Given the description of an element on the screen output the (x, y) to click on. 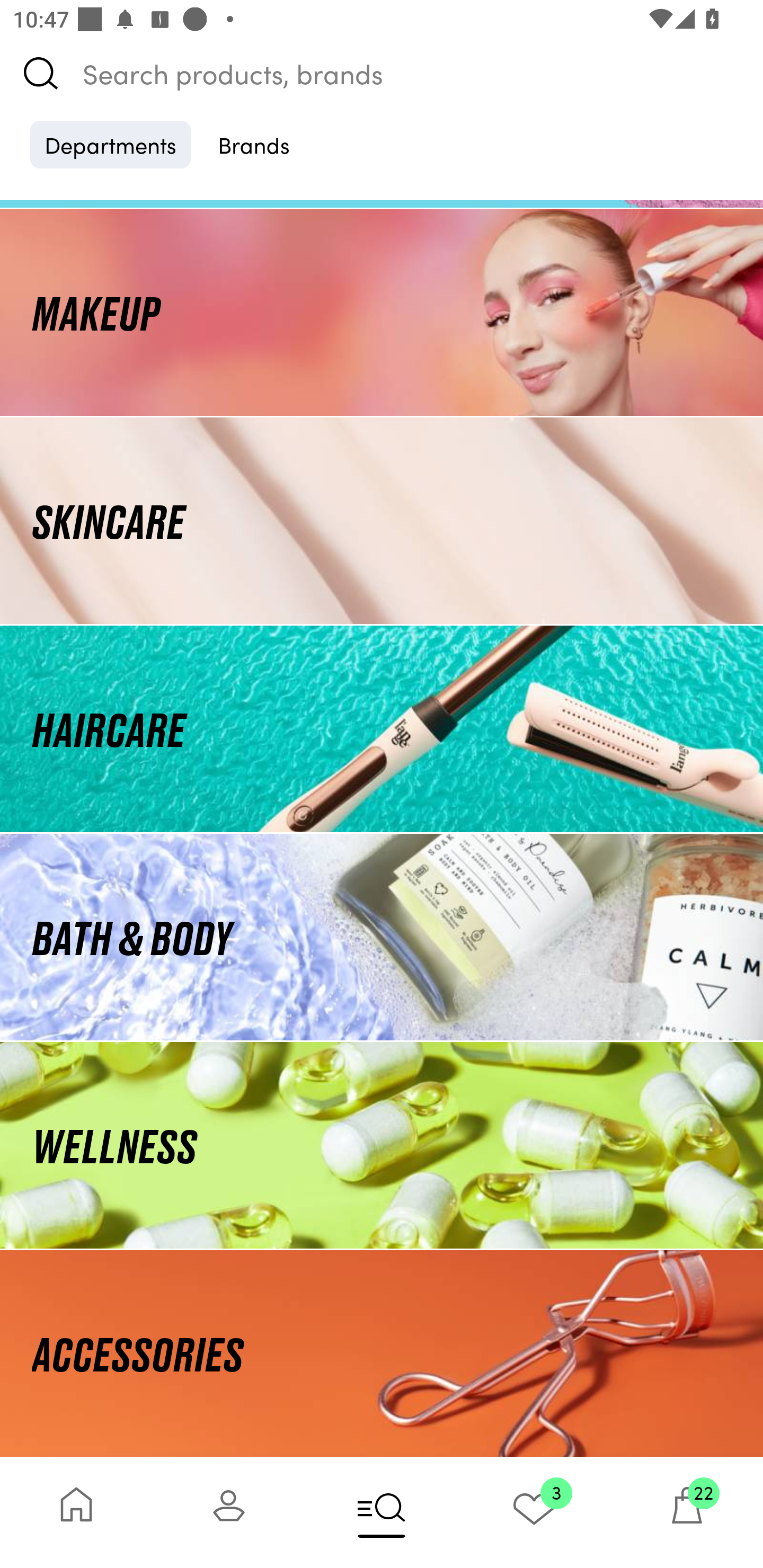
Search products, brands (381, 72)
Departments (110, 143)
Brands (253, 143)
MAKEUP (381, 311)
SKINCARE (381, 520)
HAIRCARE (381, 728)
BATH & BODY (381, 937)
WELLNESS (381, 1145)
ACCESSORIES (381, 1352)
3 (533, 1512)
22 (686, 1512)
